Given the description of an element on the screen output the (x, y) to click on. 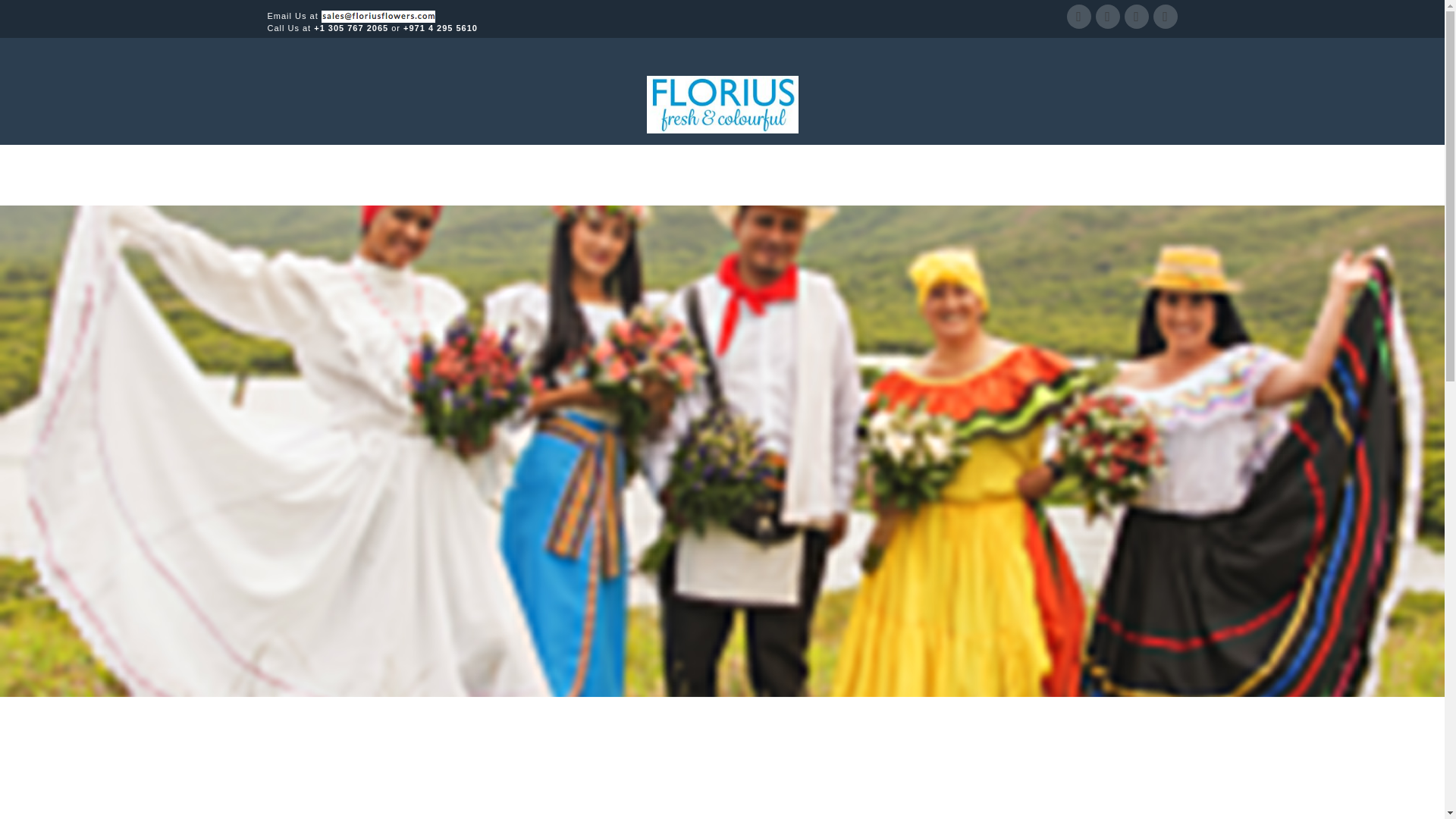
OUR FLOWERS (443, 174)
Instagram (1136, 16)
WEB SHOP (882, 174)
Facebook (1077, 16)
Pinterest (1164, 16)
HOME (361, 174)
GET IN TOUCH (1029, 174)
YouTube (1106, 16)
MARKETING (795, 174)
THE FARMS (658, 174)
ABOUT FLORIUS (557, 174)
